Given the description of an element on the screen output the (x, y) to click on. 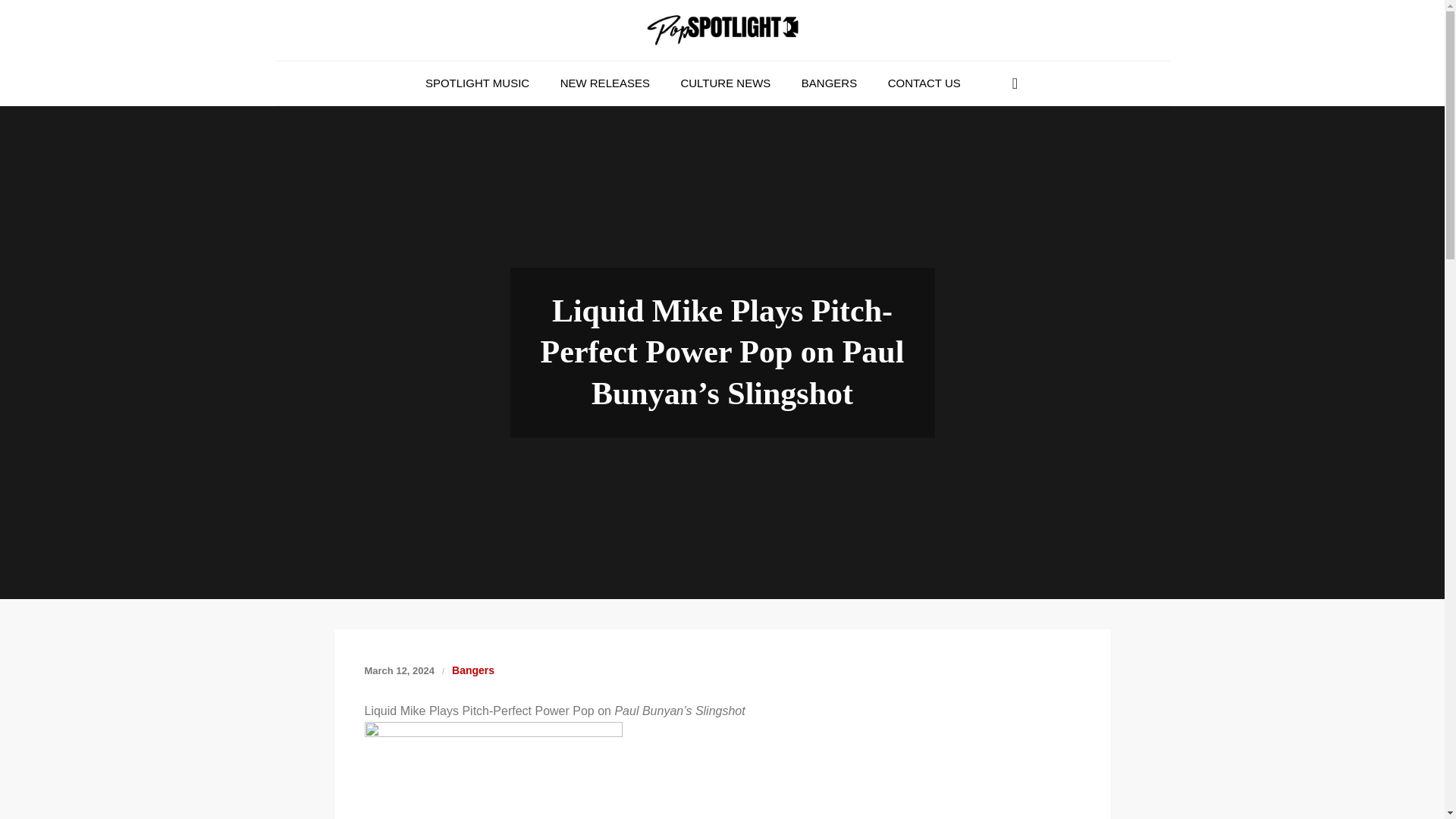
Pop Spotlight (378, 65)
March 12, 2024 (398, 670)
BANGERS (828, 83)
NEW RELEASES (605, 83)
CULTURE NEWS (725, 83)
SPOTLIGHT MUSIC (477, 83)
CONTACT US (924, 83)
Bangers (473, 670)
